Given the description of an element on the screen output the (x, y) to click on. 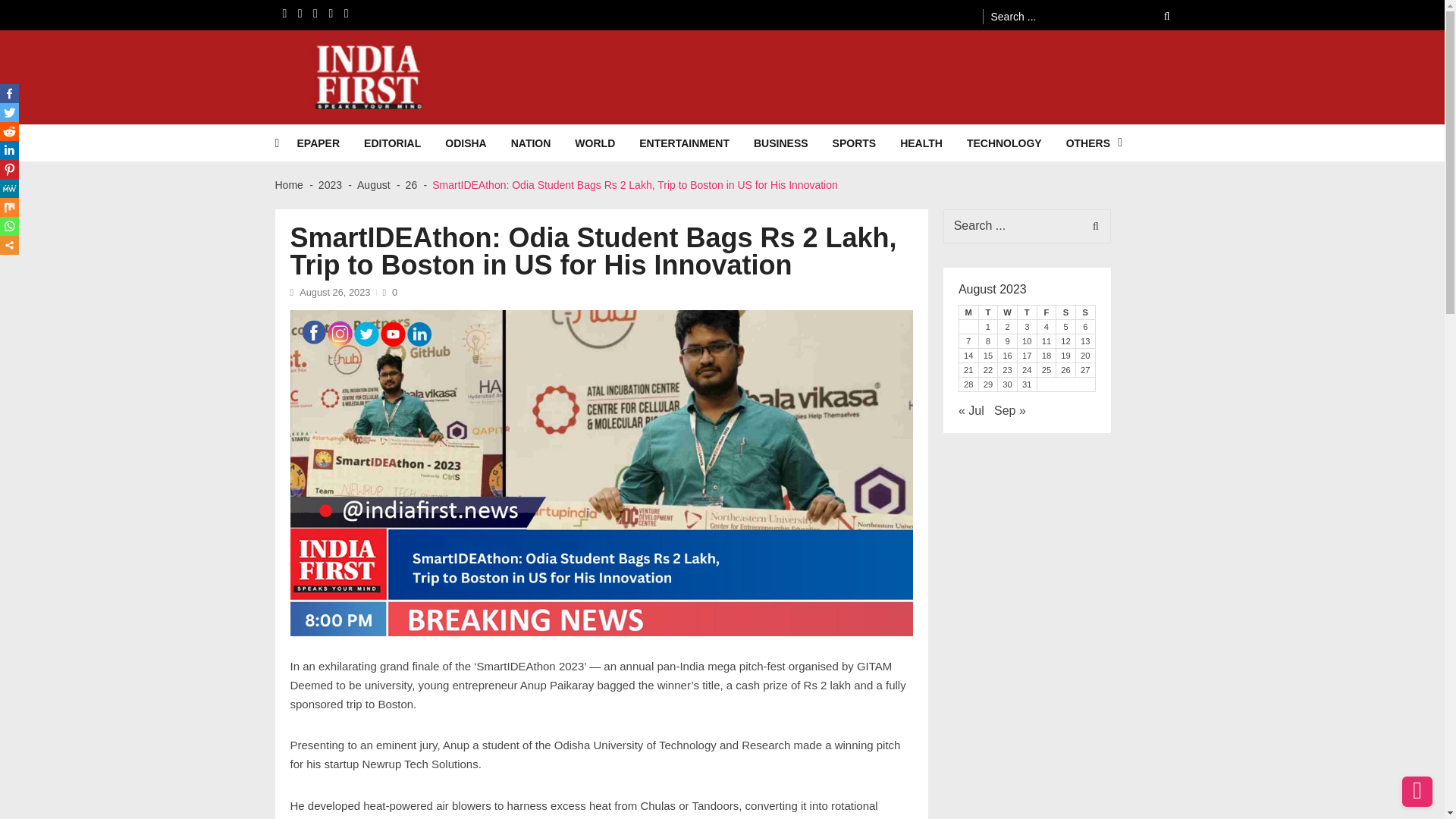
Skip to content (40, 6)
Monday (968, 311)
Search (1156, 15)
Whatsapp (9, 226)
Reddit (9, 131)
Pinterest (9, 169)
Facebook (9, 93)
Skip to navigation (48, 6)
Search (1156, 15)
Search (1156, 15)
More (9, 244)
MeWe (9, 188)
Twitter (9, 112)
Mix (9, 207)
Search (1092, 226)
